Given the description of an element on the screen output the (x, y) to click on. 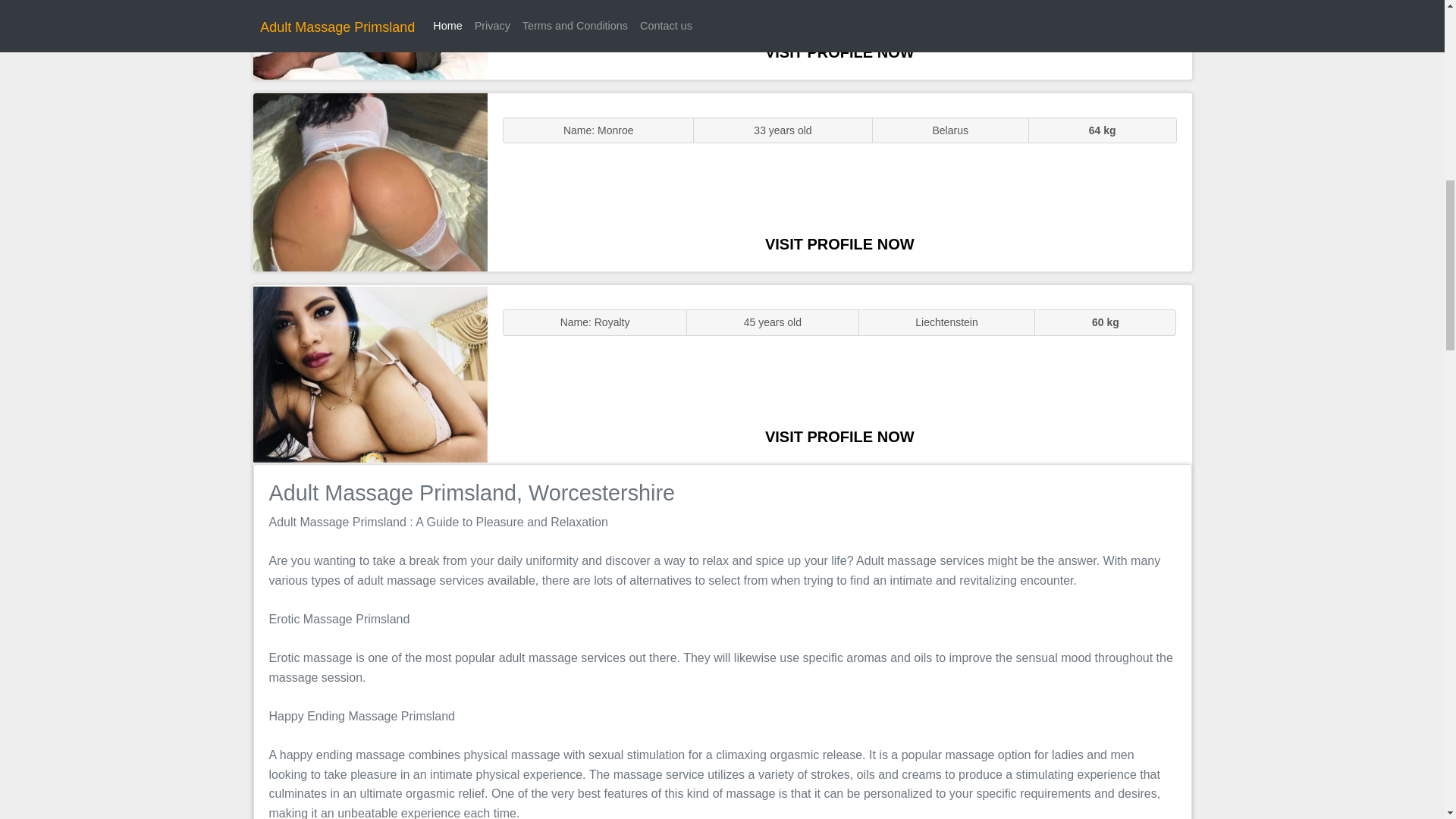
Massage (370, 374)
VISIT PROFILE NOW (839, 52)
VISIT PROFILE NOW (839, 243)
Sluts (370, 182)
VISIT PROFILE NOW (839, 436)
Sluts (370, 39)
